Given the description of an element on the screen output the (x, y) to click on. 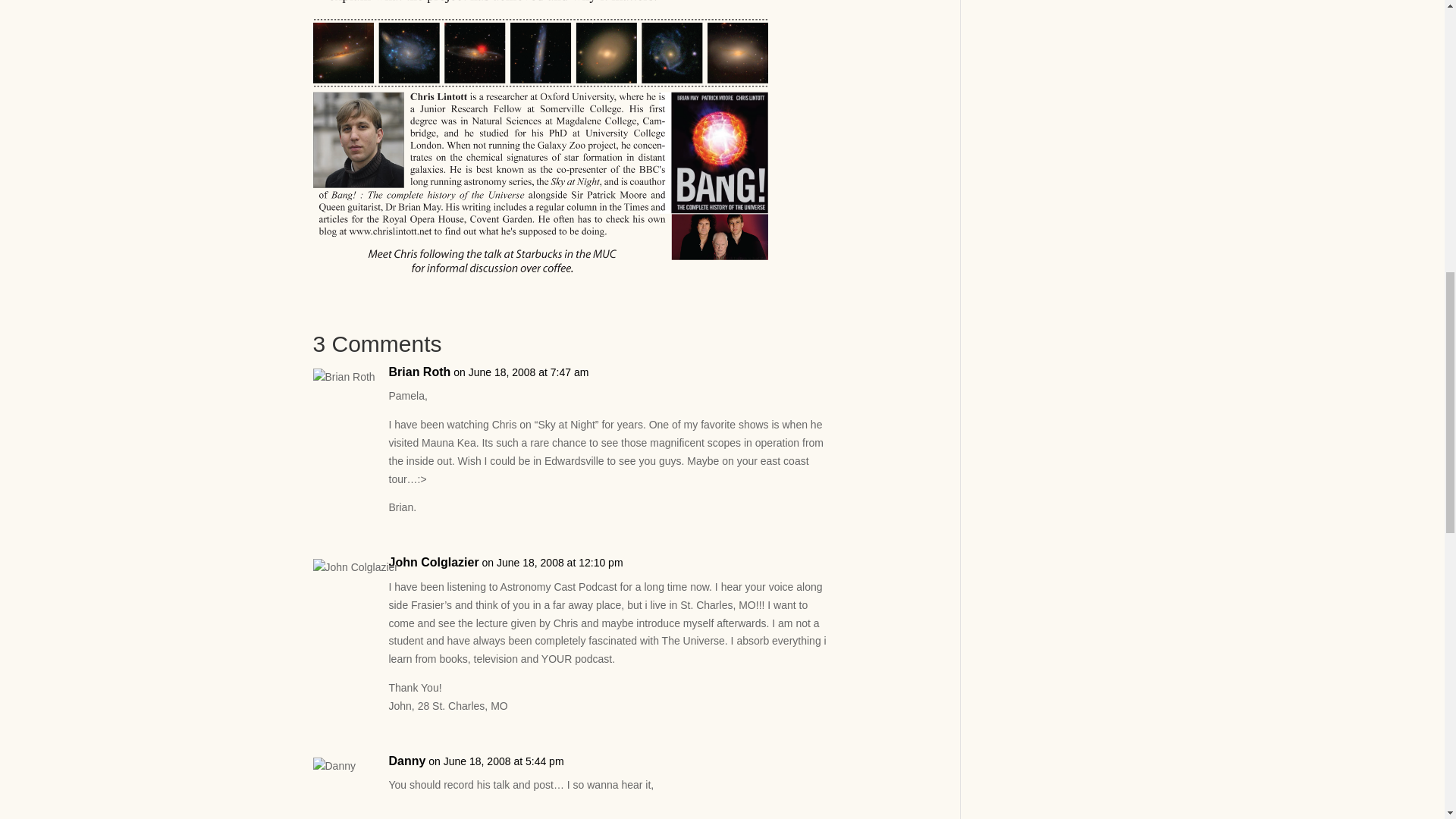
Brian Roth (418, 372)
lintottposter2-alt (540, 138)
